Given the description of an element on the screen output the (x, y) to click on. 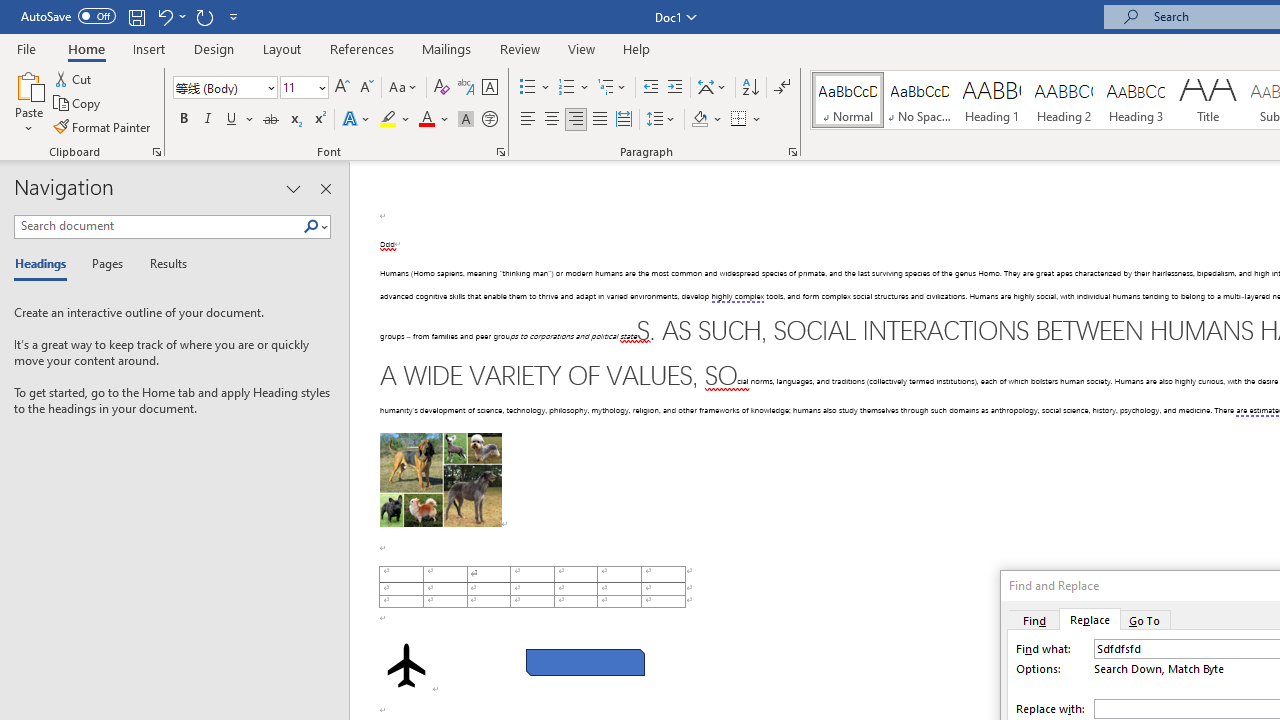
Shading (706, 119)
Paragraph... (792, 151)
Heading 1 (991, 100)
Change Case (404, 87)
Subscript (294, 119)
Align Right (575, 119)
Font Color Red (426, 119)
Help (637, 48)
Borders (739, 119)
Airplane with solid fill (406, 665)
Format Painter (103, 126)
Italic (207, 119)
AutoSave (68, 16)
Rectangle: Diagonal Corners Snipped 2 (585, 662)
Increase Indent (675, 87)
